Given the description of an element on the screen output the (x, y) to click on. 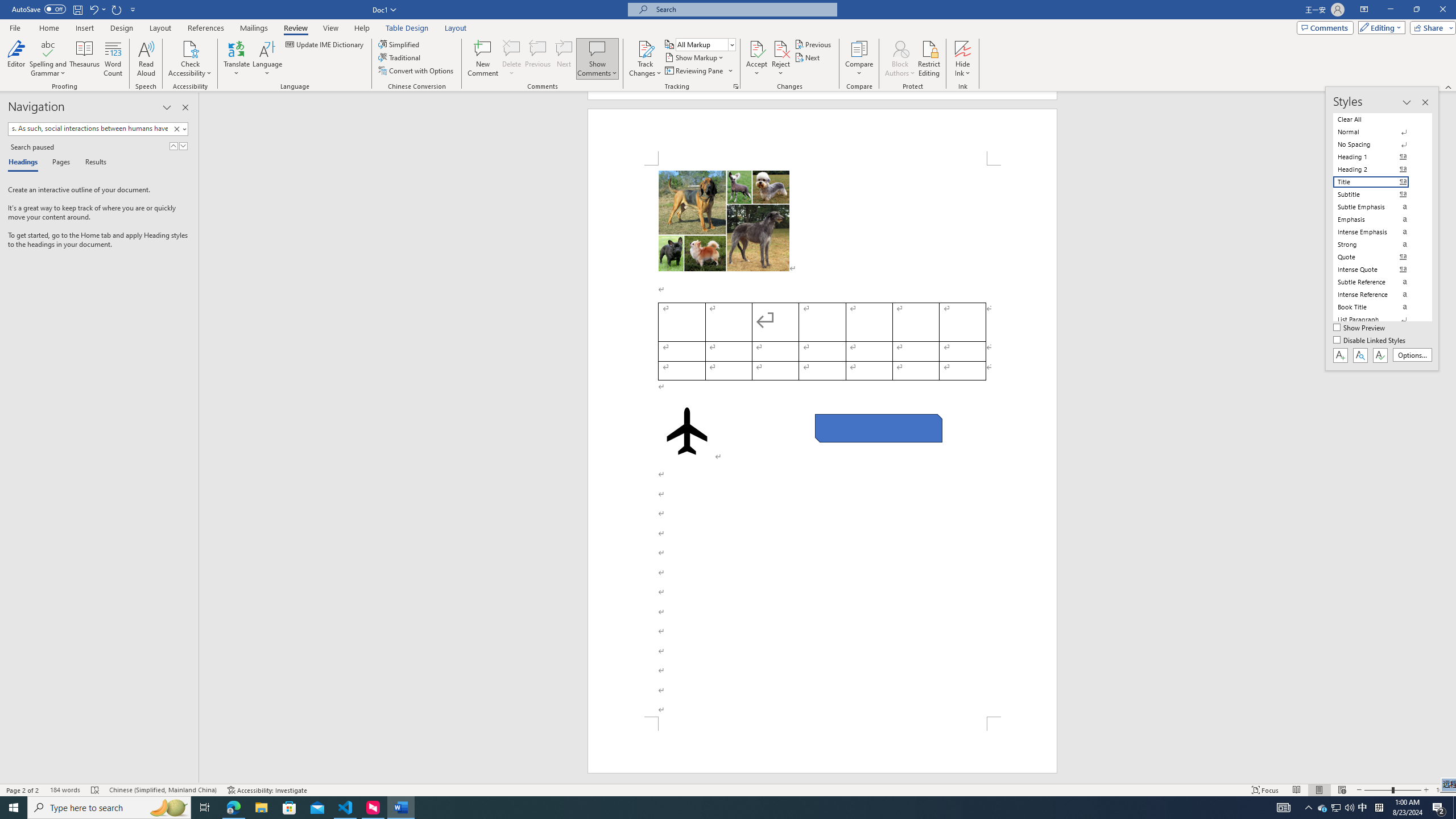
Block Authors (900, 58)
Delete (511, 58)
Next (808, 56)
